Given the description of an element on the screen output the (x, y) to click on. 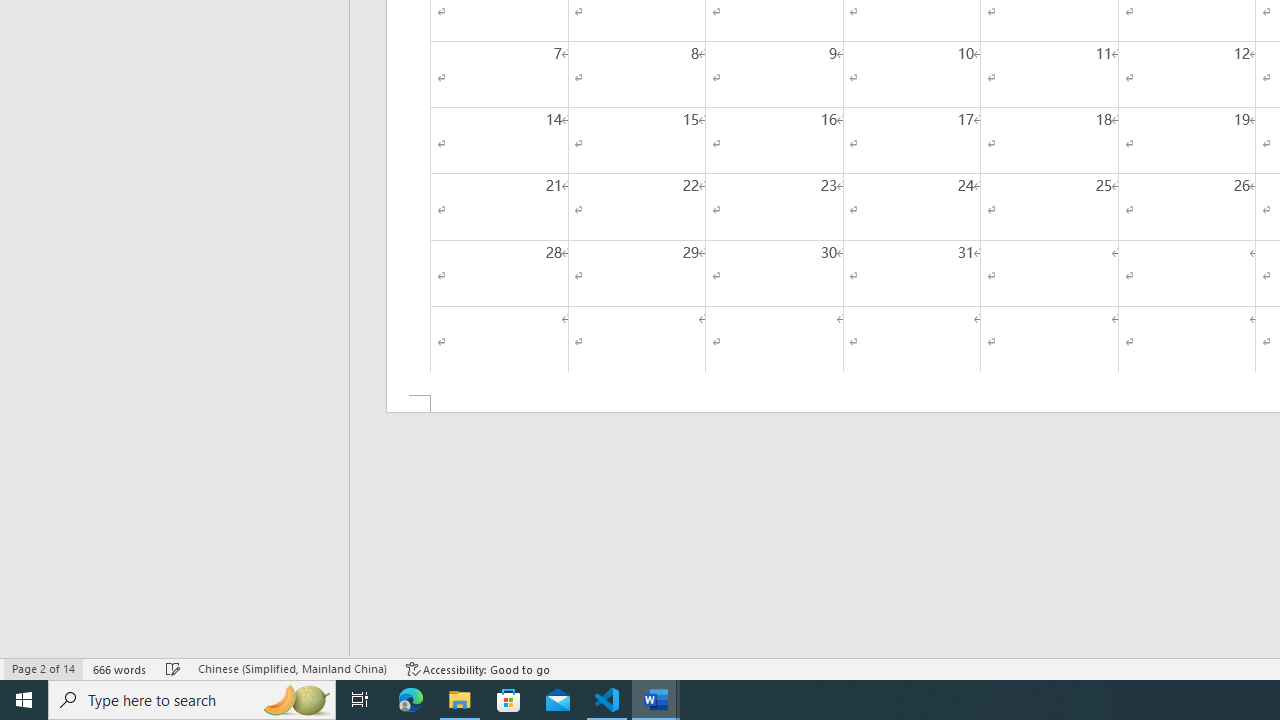
Page Number Page 2 of 14 (43, 668)
